Given the description of an element on the screen output the (x, y) to click on. 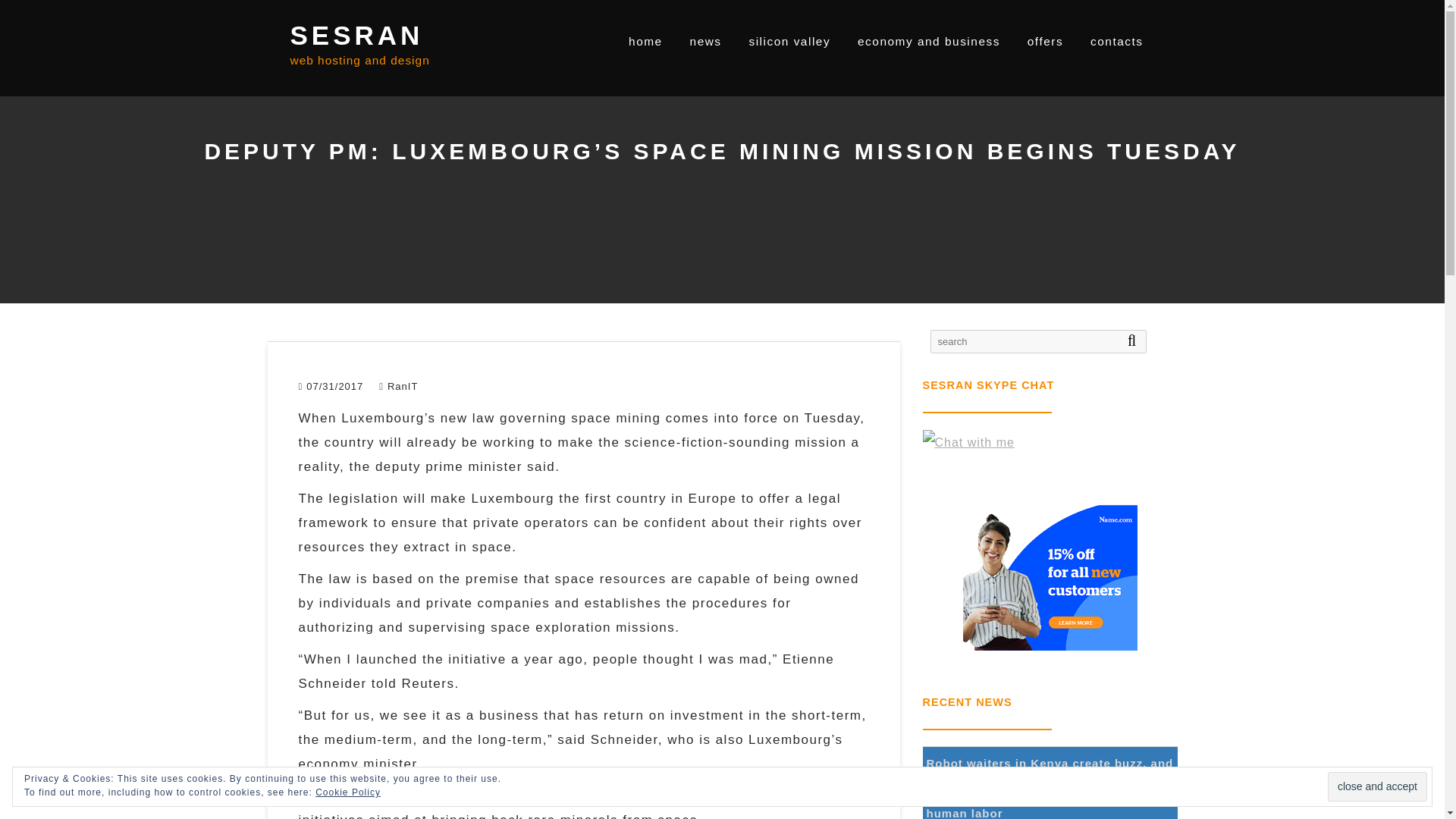
home (645, 41)
RanIT (397, 386)
economy and business (928, 41)
Cookie Policy (347, 792)
contacts (1116, 41)
silicon valley (788, 41)
SESRAN (356, 34)
news (705, 41)
close and accept (1376, 786)
SESRAN (356, 34)
